Given the description of an element on the screen output the (x, y) to click on. 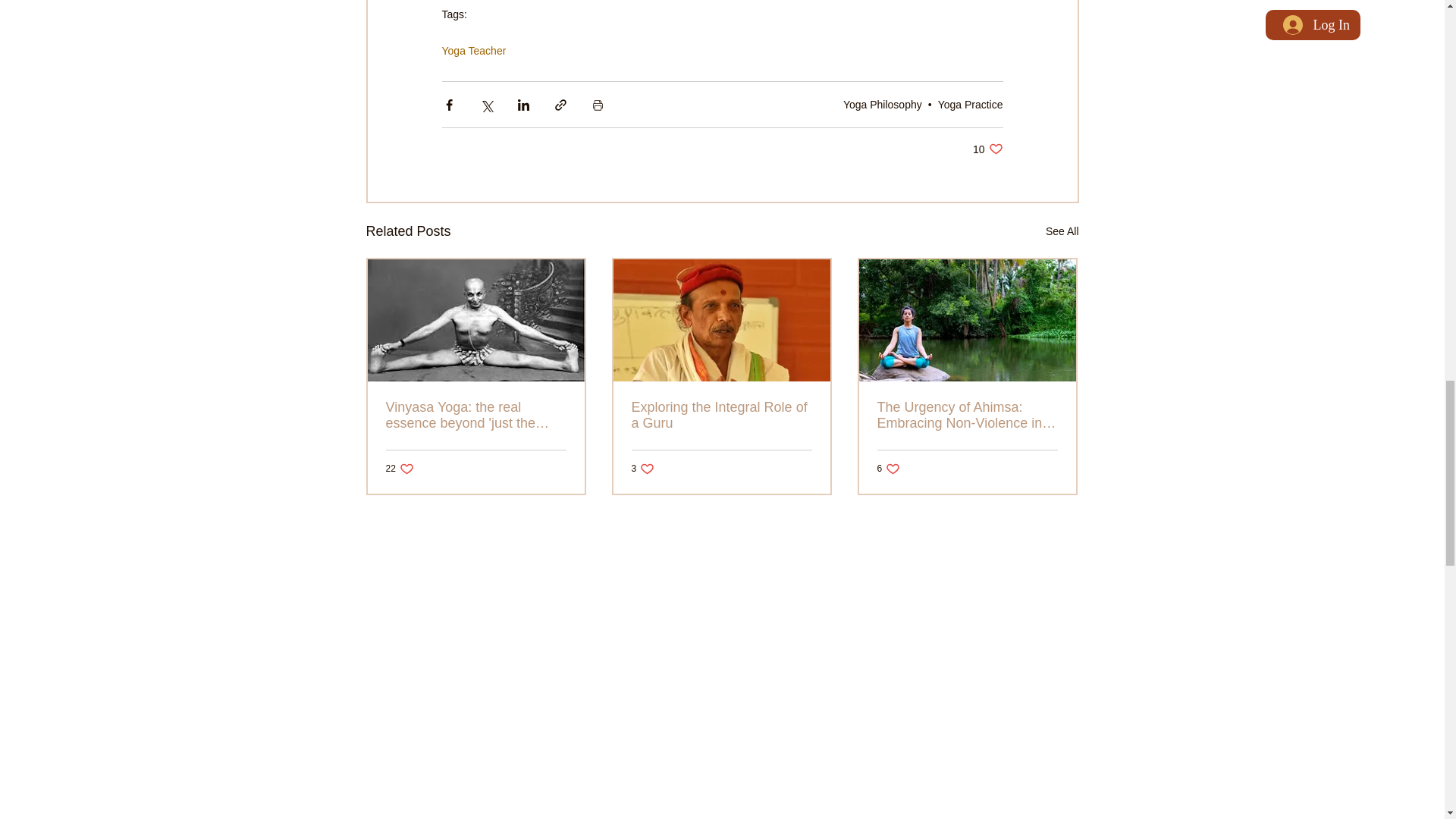
Exploring the Integral Role of a Guru (720, 415)
Yoga Practice (970, 104)
Vinyasa Yoga: the real essence beyond 'just the flow' (475, 415)
Yoga Teacher (641, 468)
See All (473, 50)
Yoga Philosophy (1061, 231)
